Given the description of an element on the screen output the (x, y) to click on. 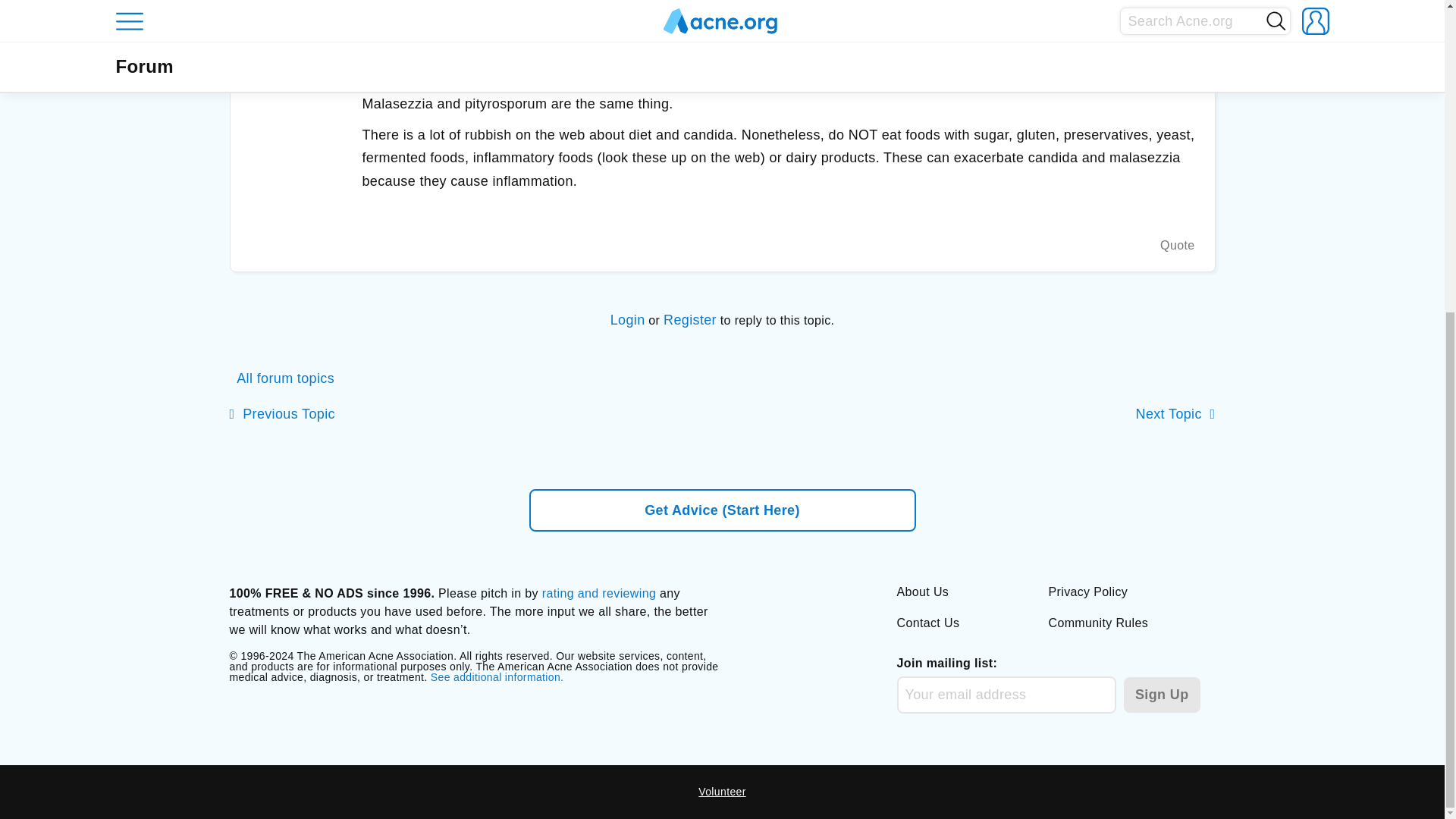
Next Topic   (1175, 413)
Sign Up (1161, 694)
Usergroup (295, 66)
Register (689, 319)
Leaky gut, fungal acne, malassezia pityrosporum folliculitis (281, 413)
  All forum topics (281, 378)
Login (627, 319)
  Previous Topic (281, 413)
